Given the description of an element on the screen output the (x, y) to click on. 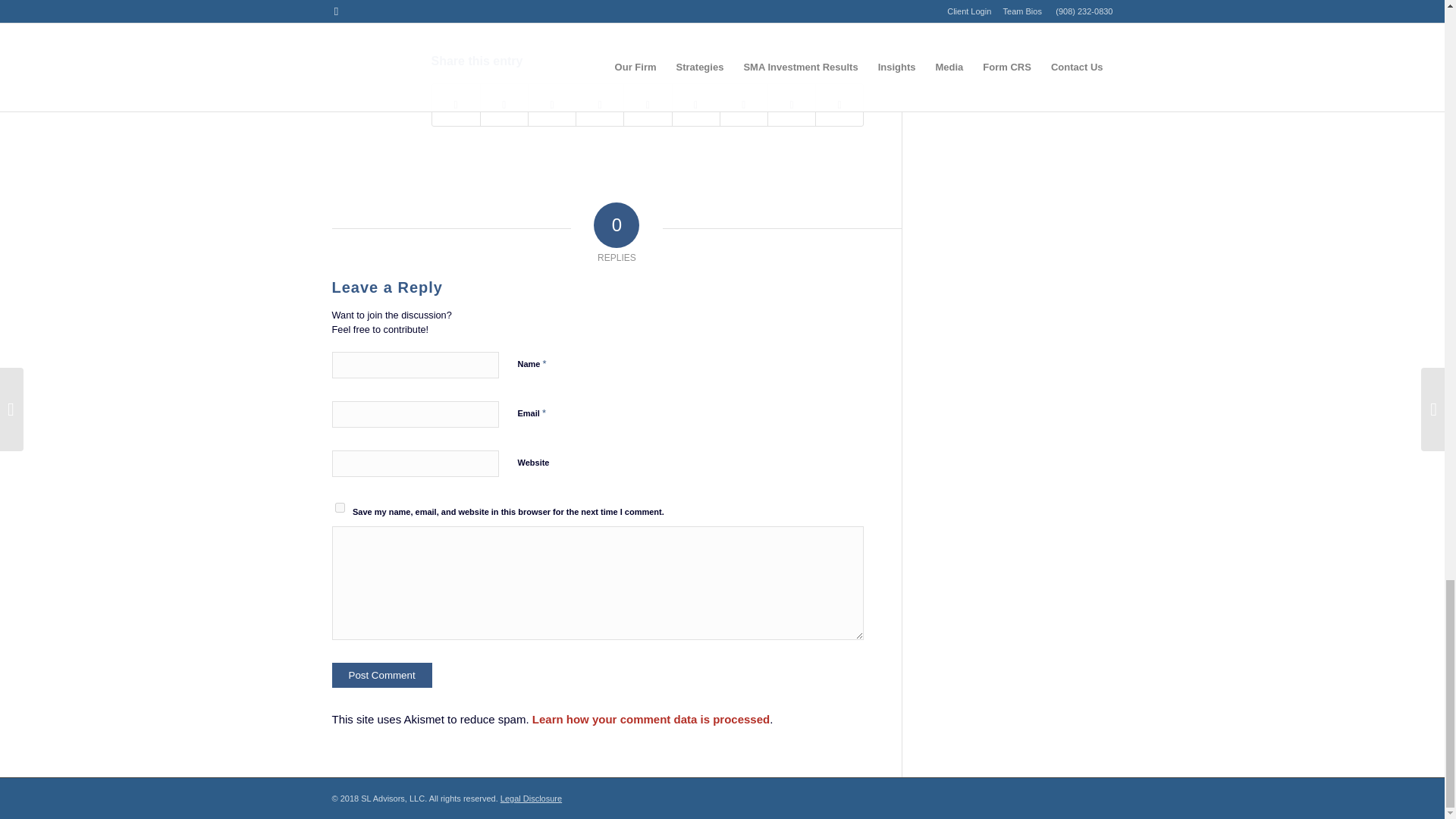
Post Comment (381, 674)
yes (339, 507)
